Given the description of an element on the screen output the (x, y) to click on. 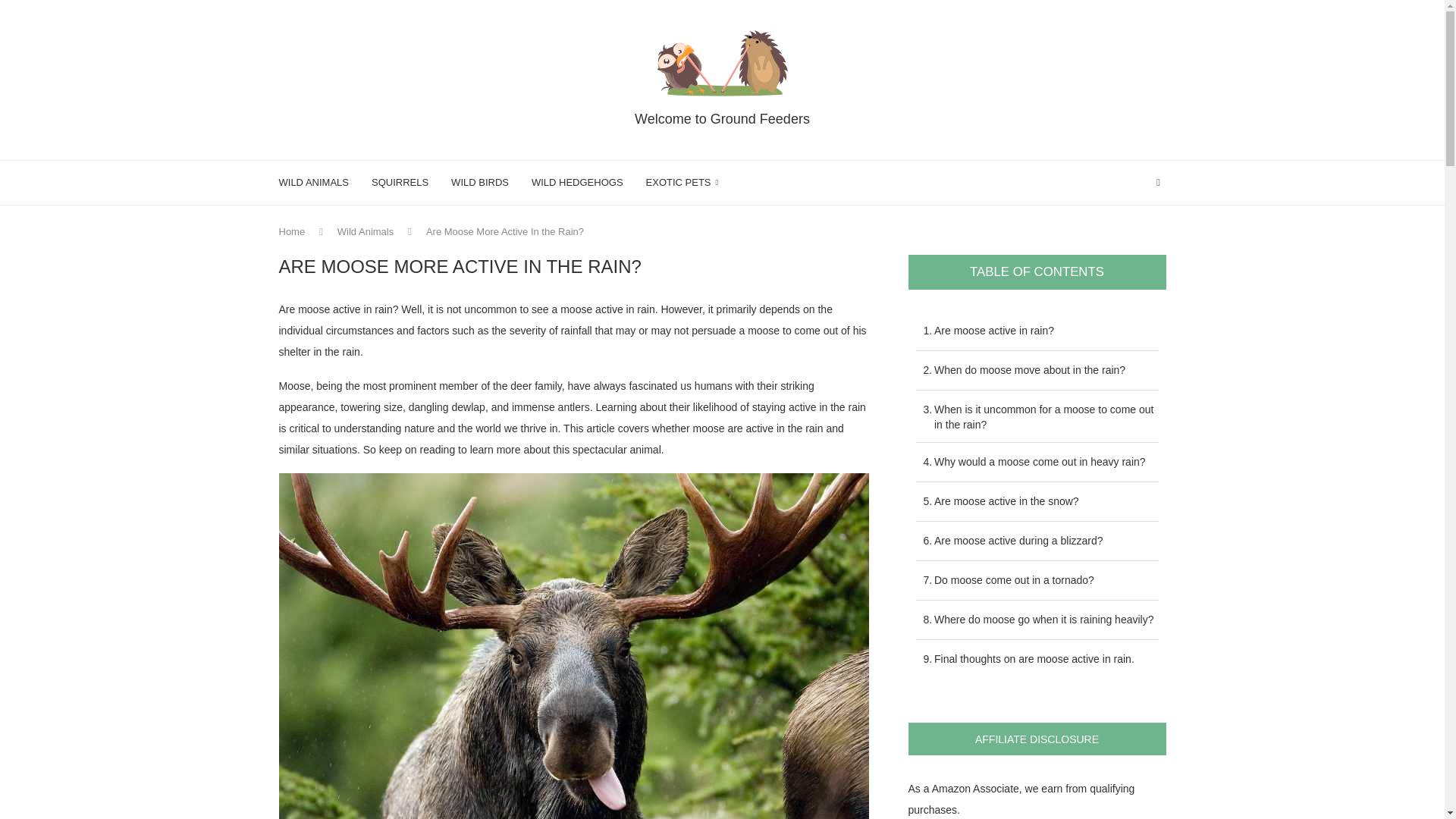
WILD ANIMALS (314, 182)
SQUIRRELS (399, 182)
EXOTIC PETS (682, 182)
WILD BIRDS (479, 182)
Wild Animals (365, 231)
WILD HEDGEHOGS (577, 182)
Home (292, 231)
